Given the description of an element on the screen output the (x, y) to click on. 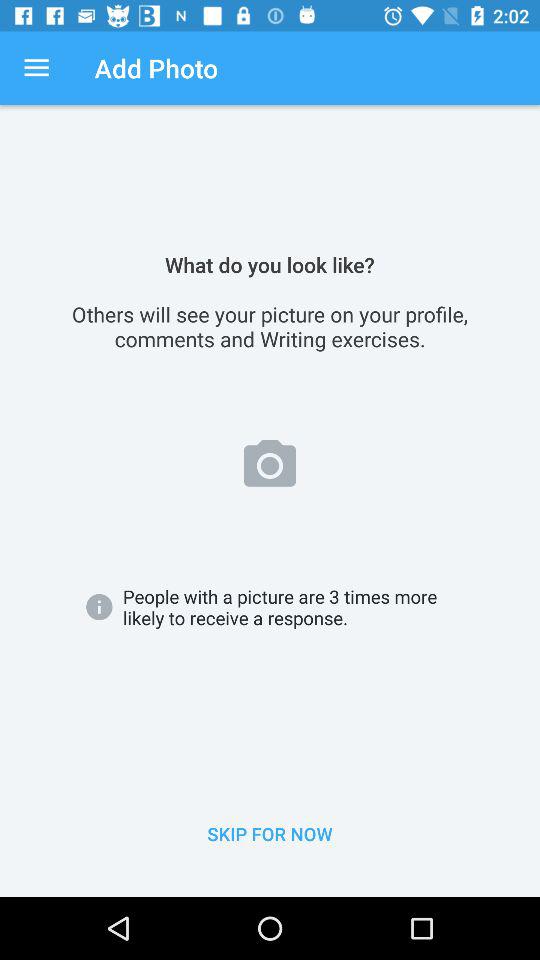
click the app next to add photo app (36, 68)
